Given the description of an element on the screen output the (x, y) to click on. 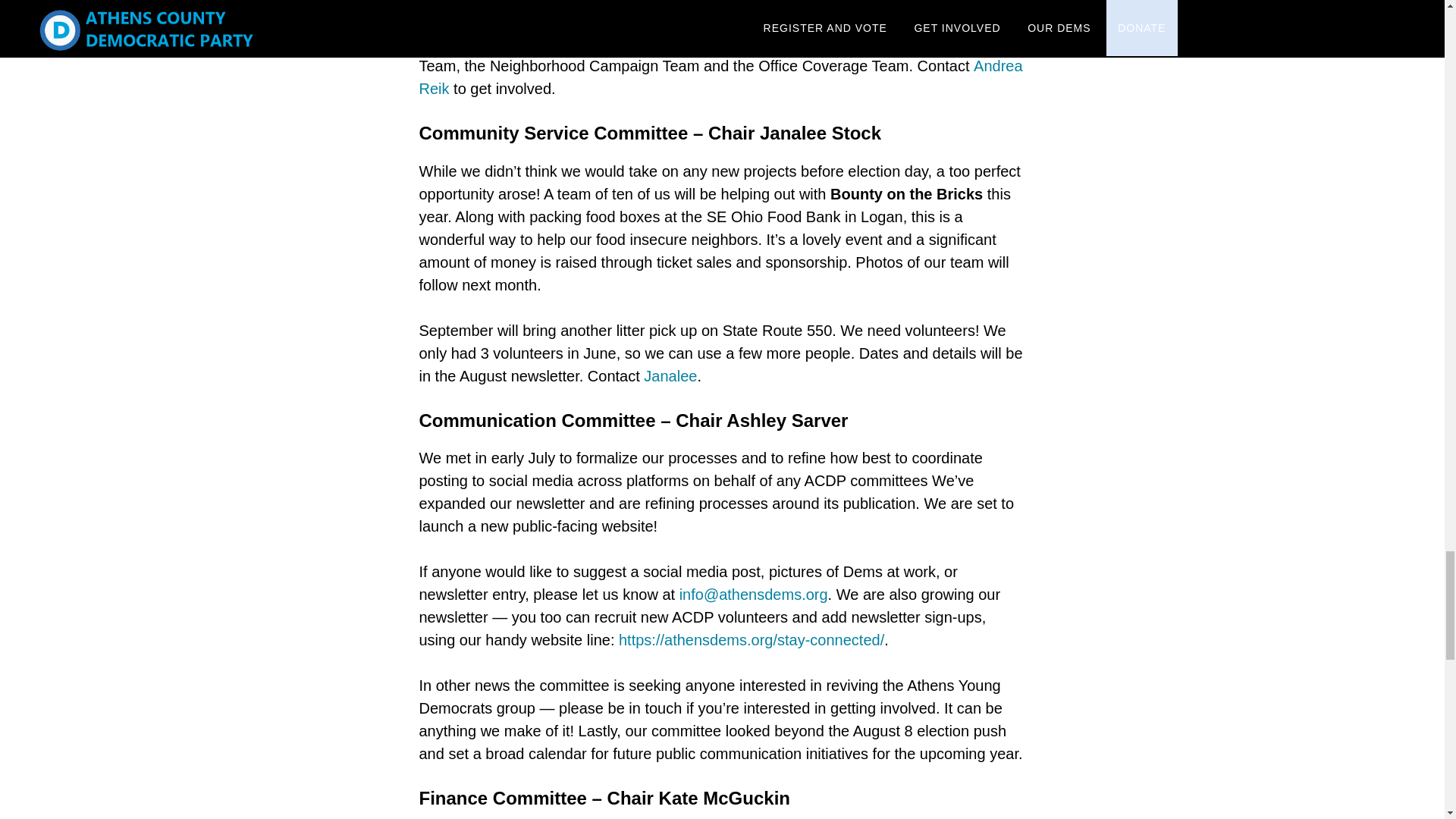
Janalee (670, 375)
Andrea Reik (720, 77)
